Given the description of an element on the screen output the (x, y) to click on. 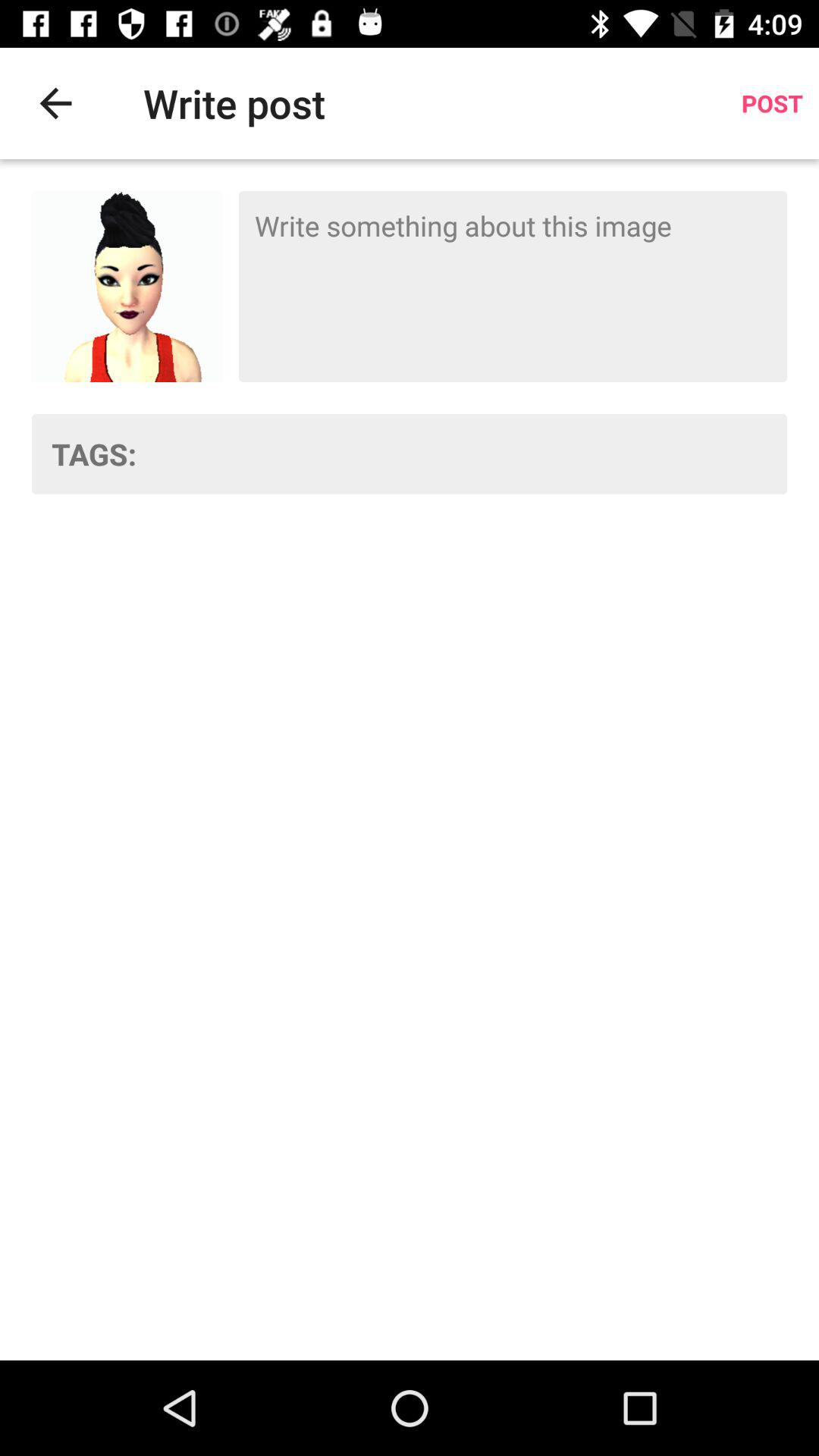
tags row (471, 454)
